Given the description of an element on the screen output the (x, y) to click on. 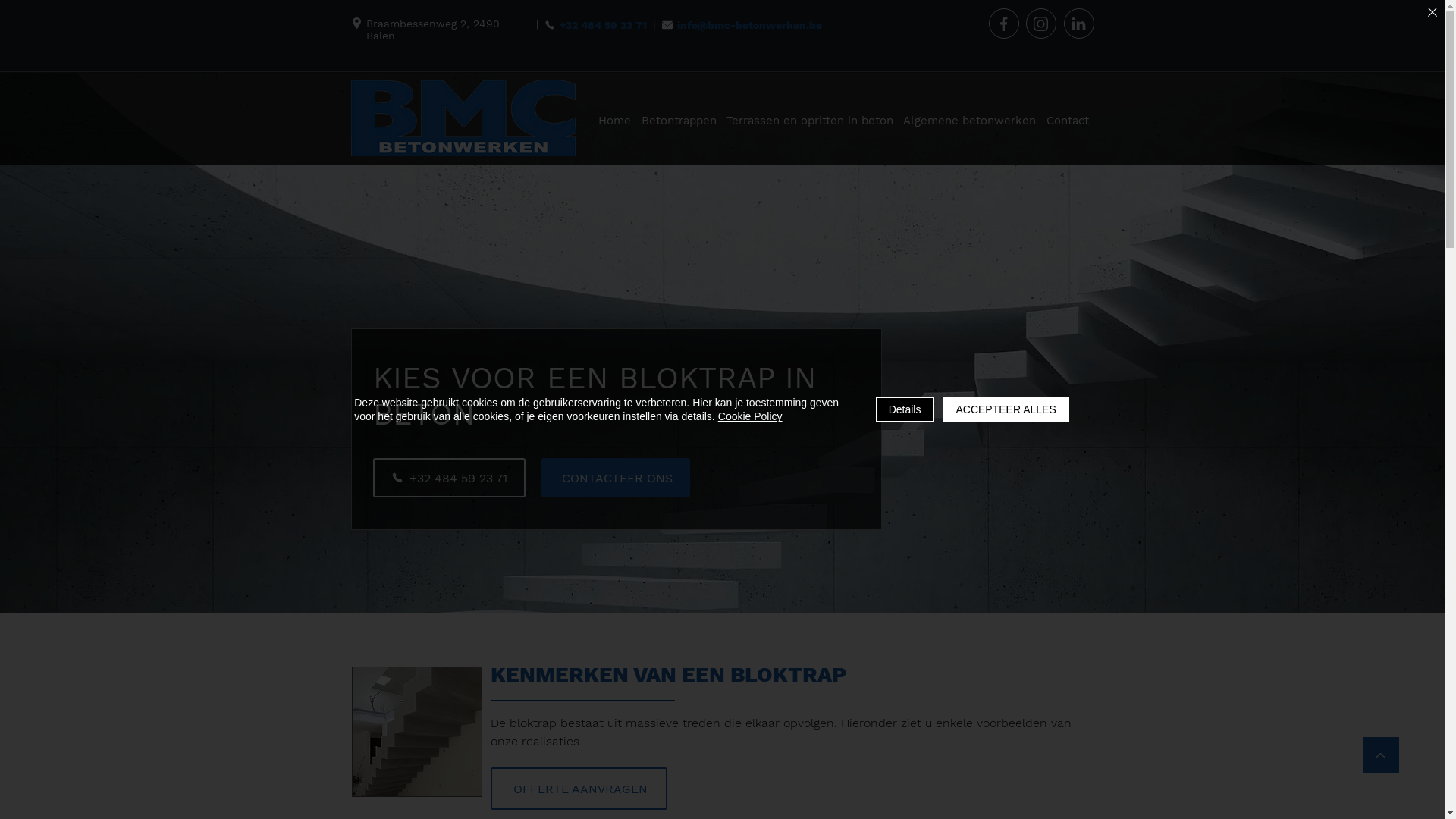
info@bmc-betonwerken.be Element type: text (745, 24)
Terrassen en opritten in beton Element type: text (809, 120)
Details Element type: text (904, 409)
OFFERTE AANVRAGEN Element type: text (577, 788)
+32 484 59 23 71 Element type: text (449, 477)
Algemene betonwerken Element type: text (969, 120)
Contact Element type: text (1067, 120)
Cookie Policy Element type: text (750, 416)
ACCEPTEER ALLES Element type: text (1005, 409)
CONTACTEER ONS Element type: text (615, 477)
Home Element type: text (614, 120)
Betontrappen Element type: text (678, 120)
+32 484 59 23 71 Element type: text (598, 24)
